Given the description of an element on the screen output the (x, y) to click on. 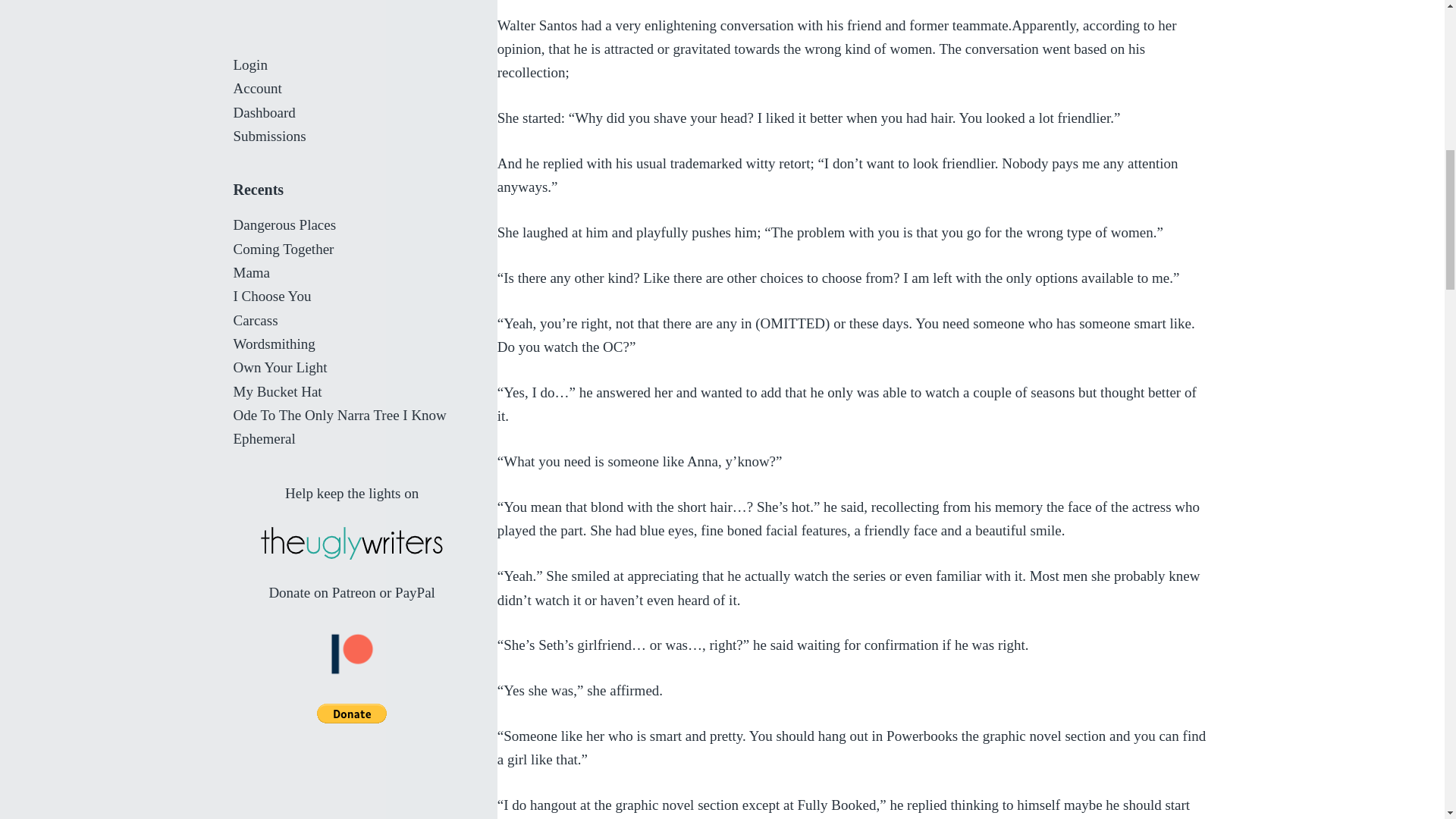
PayPal - The safer, easier way to pay online! (352, 281)
